Given the description of an element on the screen output the (x, y) to click on. 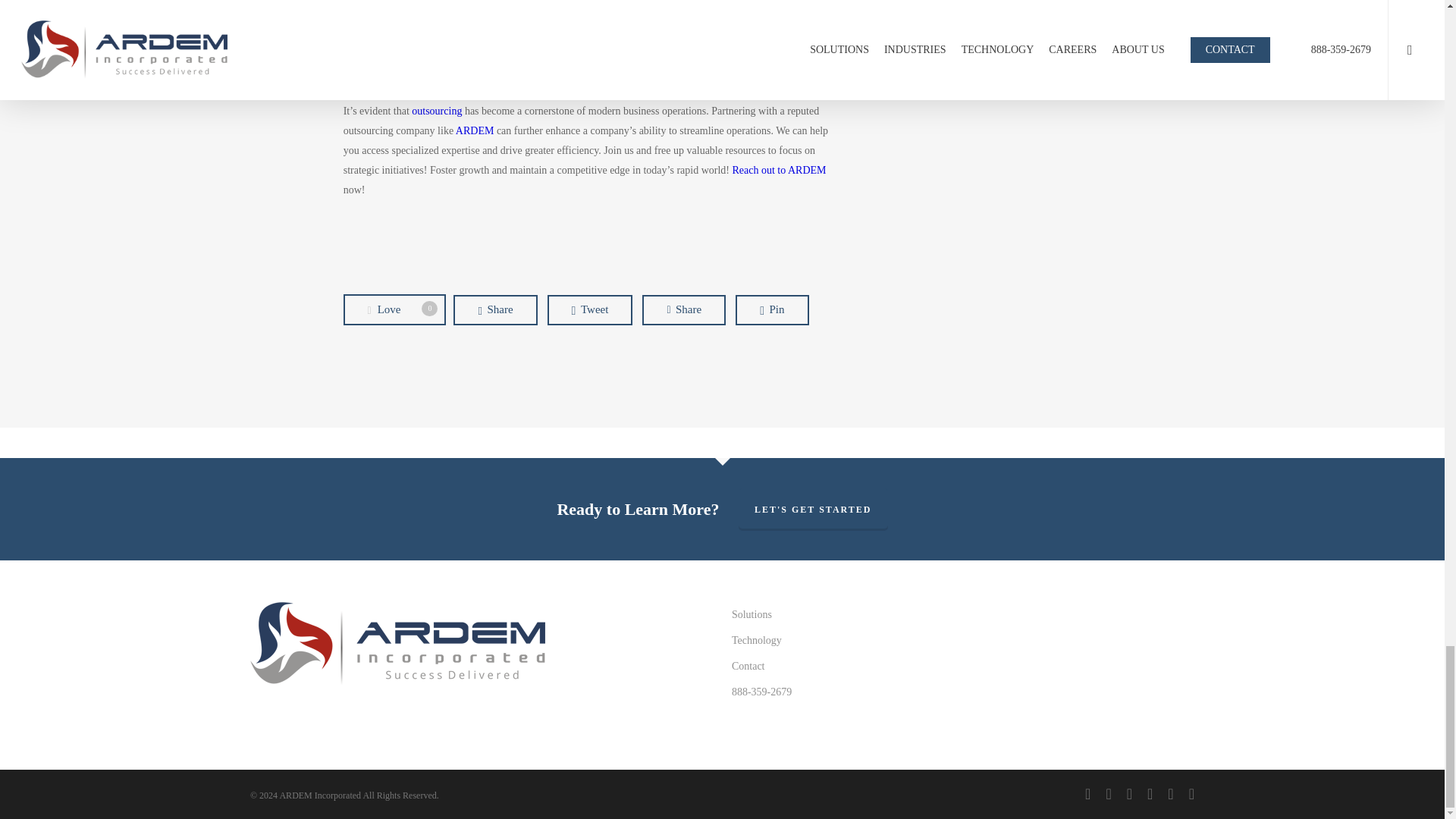
Tweet this (590, 309)
Share this (683, 309)
Love this (393, 309)
Share this (494, 309)
Pin this (771, 309)
